Given the description of an element on the screen output the (x, y) to click on. 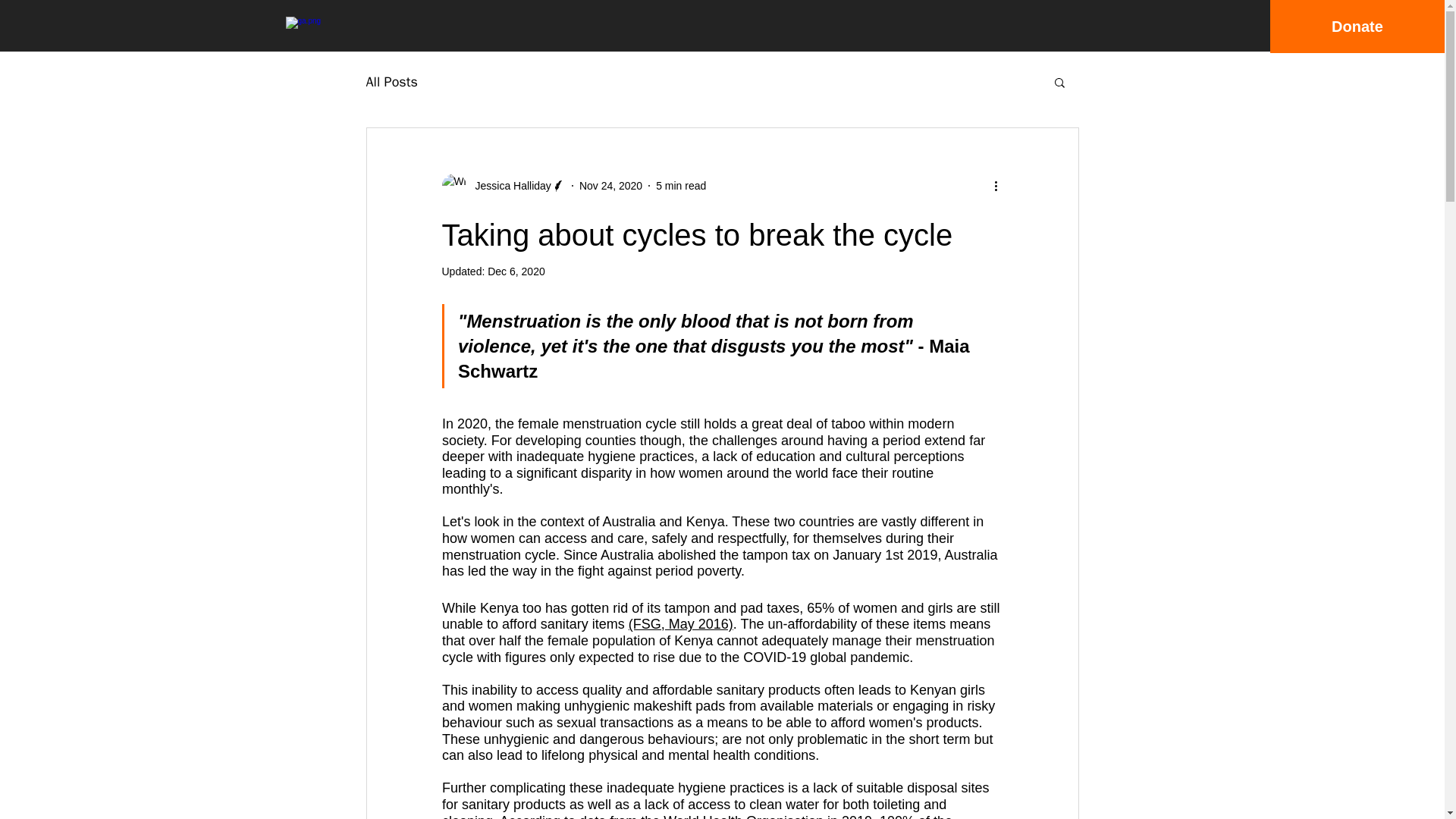
Dec 6, 2020 (515, 271)
5 min read (681, 184)
All Posts (390, 81)
Nov 24, 2020 (610, 184)
Jessica Halliday (507, 185)
